Given the description of an element on the screen output the (x, y) to click on. 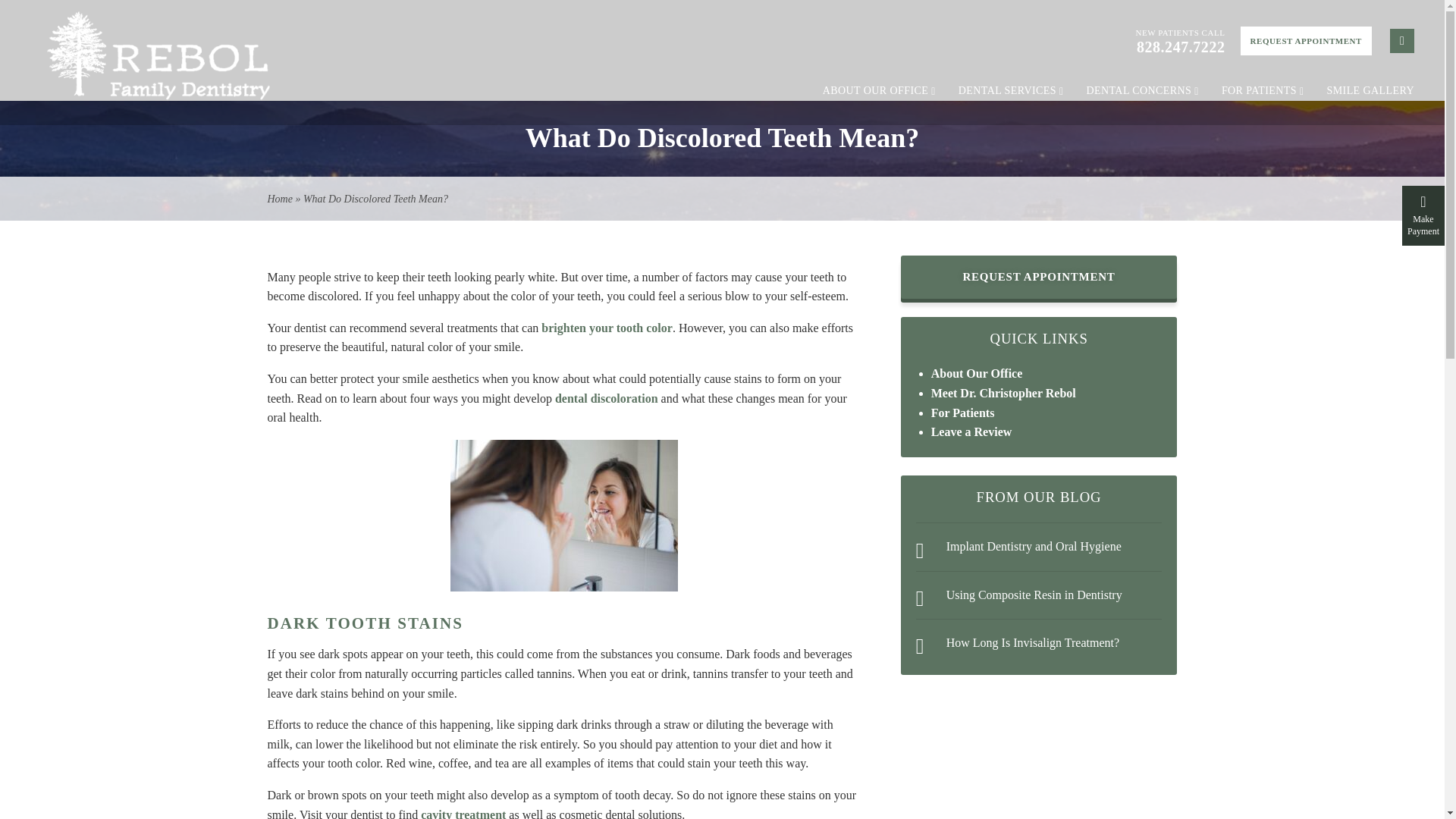
DENTAL CONCERNS (1142, 90)
REQUEST APPOINTMENT (1305, 40)
DENTAL SERVICES (1011, 90)
FOR PATIENTS (1262, 90)
ABOUT OUR OFFICE (879, 90)
